Given the description of an element on the screen output the (x, y) to click on. 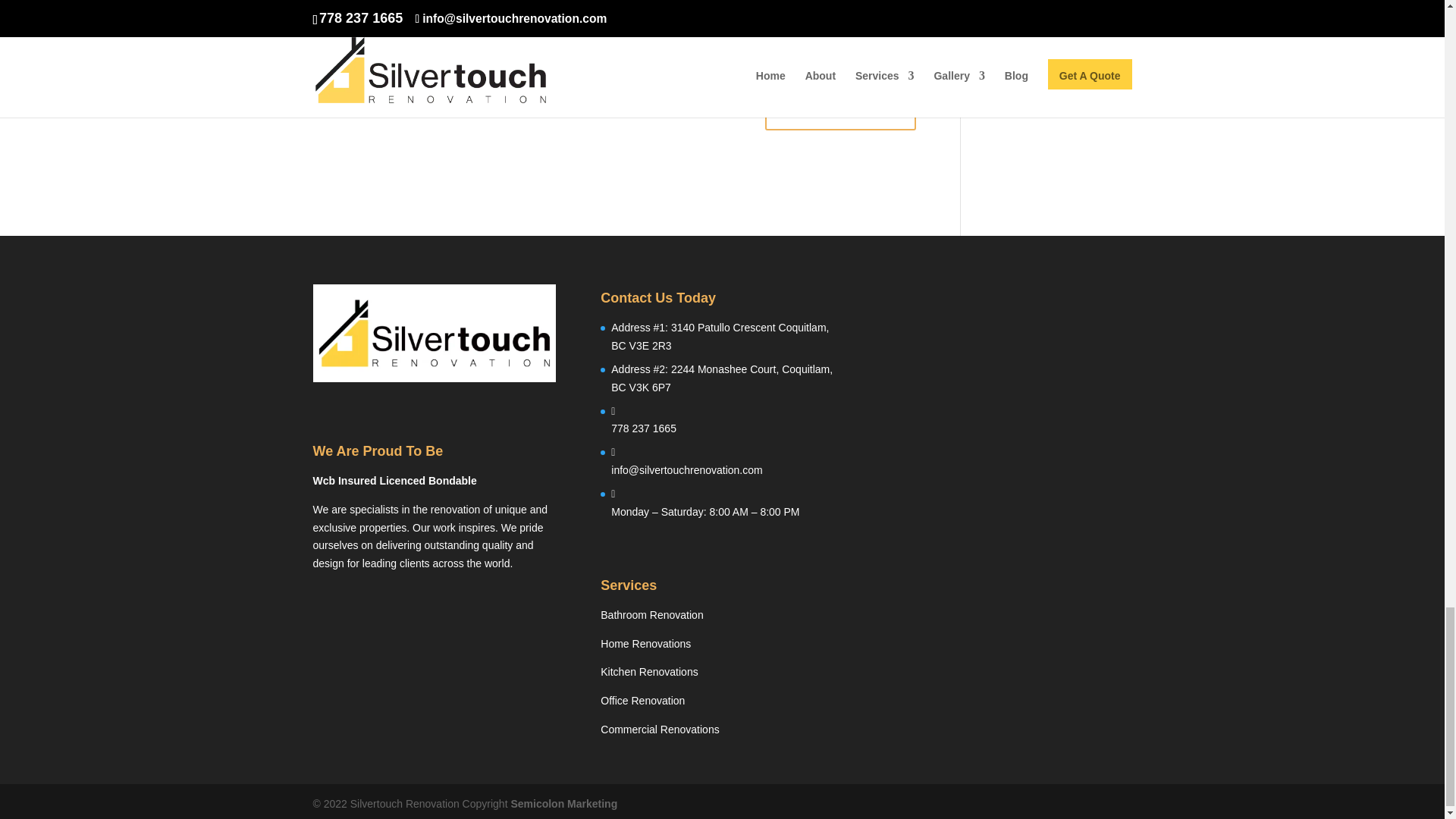
Commercial Property Renovations (659, 729)
Bathroom Renovation (651, 614)
Office Renovation  (641, 700)
Kitchen Renovation Services (648, 671)
yes (319, 71)
Office Renovation (641, 700)
Home Renovation Service (644, 644)
778 237 1665 (644, 428)
Kitchen Renovations (648, 671)
Commercial Renovations (659, 729)
Home Renovations (644, 644)
Semicolon Marketing (562, 803)
Submit Comment (840, 111)
Submit Comment (840, 111)
Bathroom Renovation (651, 614)
